Given the description of an element on the screen output the (x, y) to click on. 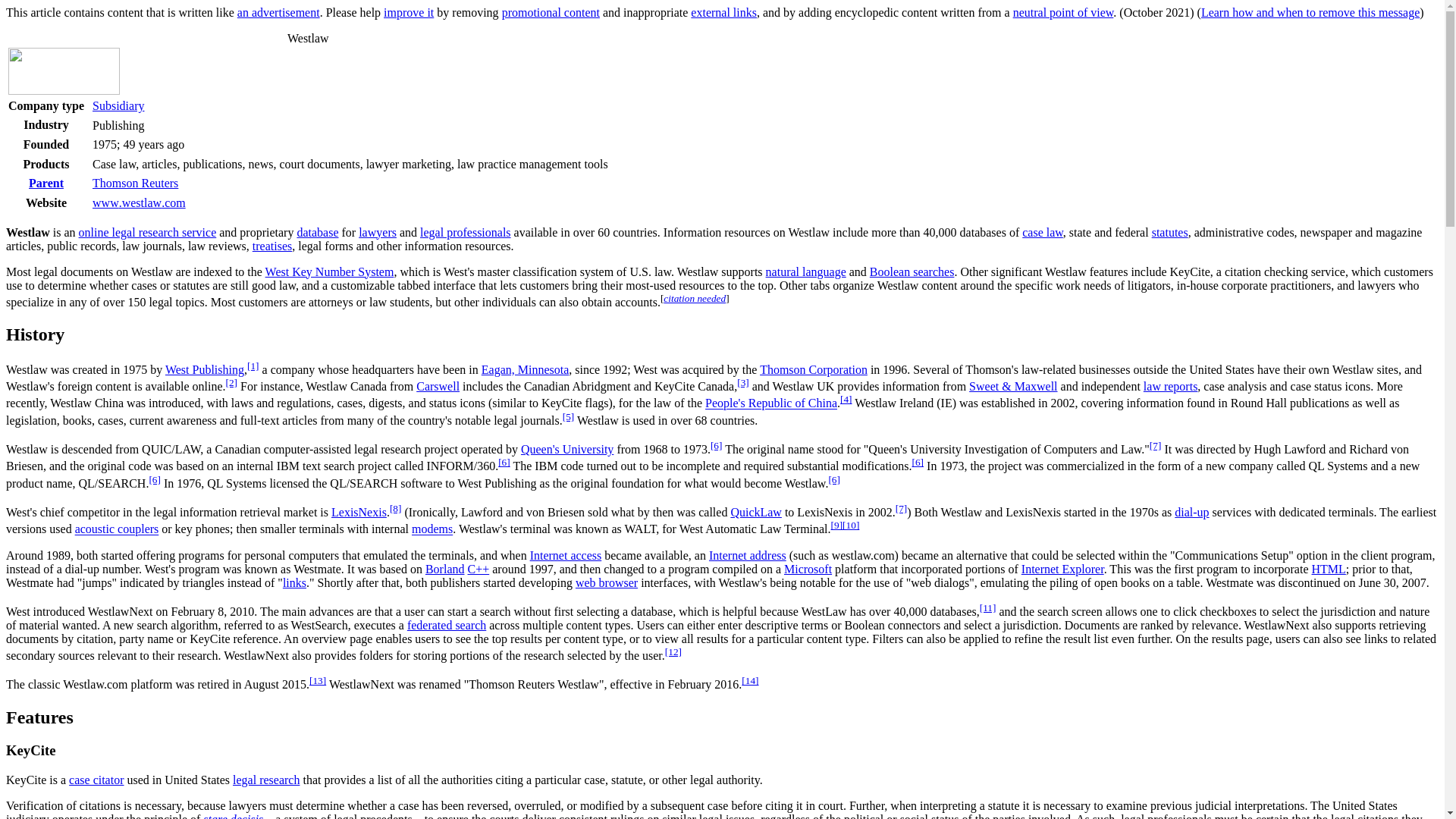
Computer-assisted legal research (147, 232)
statutes (1169, 232)
lawyers (377, 232)
case law (1042, 232)
legal professionals (465, 232)
natural language (805, 271)
West Key Number System (329, 271)
law reports (1170, 386)
an advertisement (278, 11)
www.westlaw.com (139, 202)
Lawyer (377, 232)
West Publishing (204, 369)
Eagan, Minnesota (525, 369)
citation needed (694, 297)
Subsidiary (118, 105)
